Given the description of an element on the screen output the (x, y) to click on. 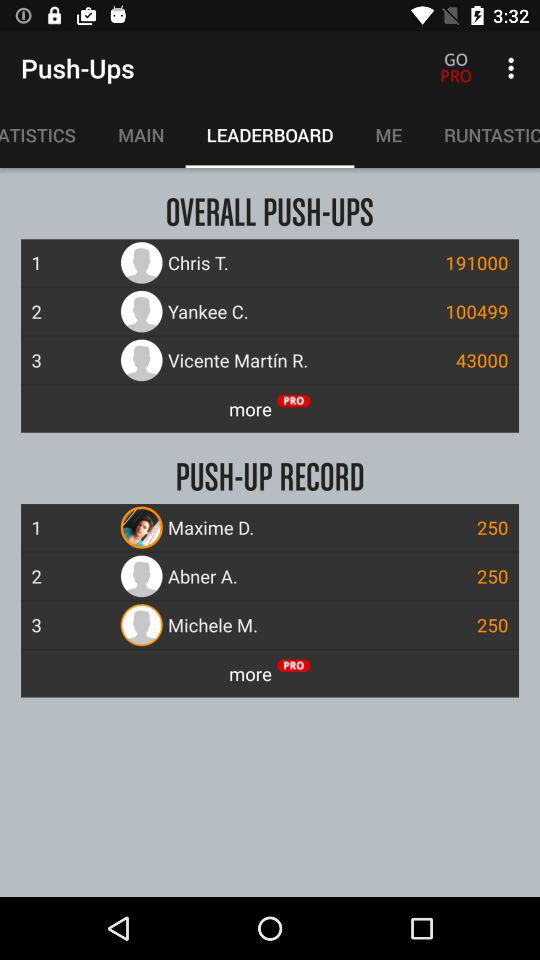
choose item above the chris t. (481, 135)
